Given the description of an element on the screen output the (x, y) to click on. 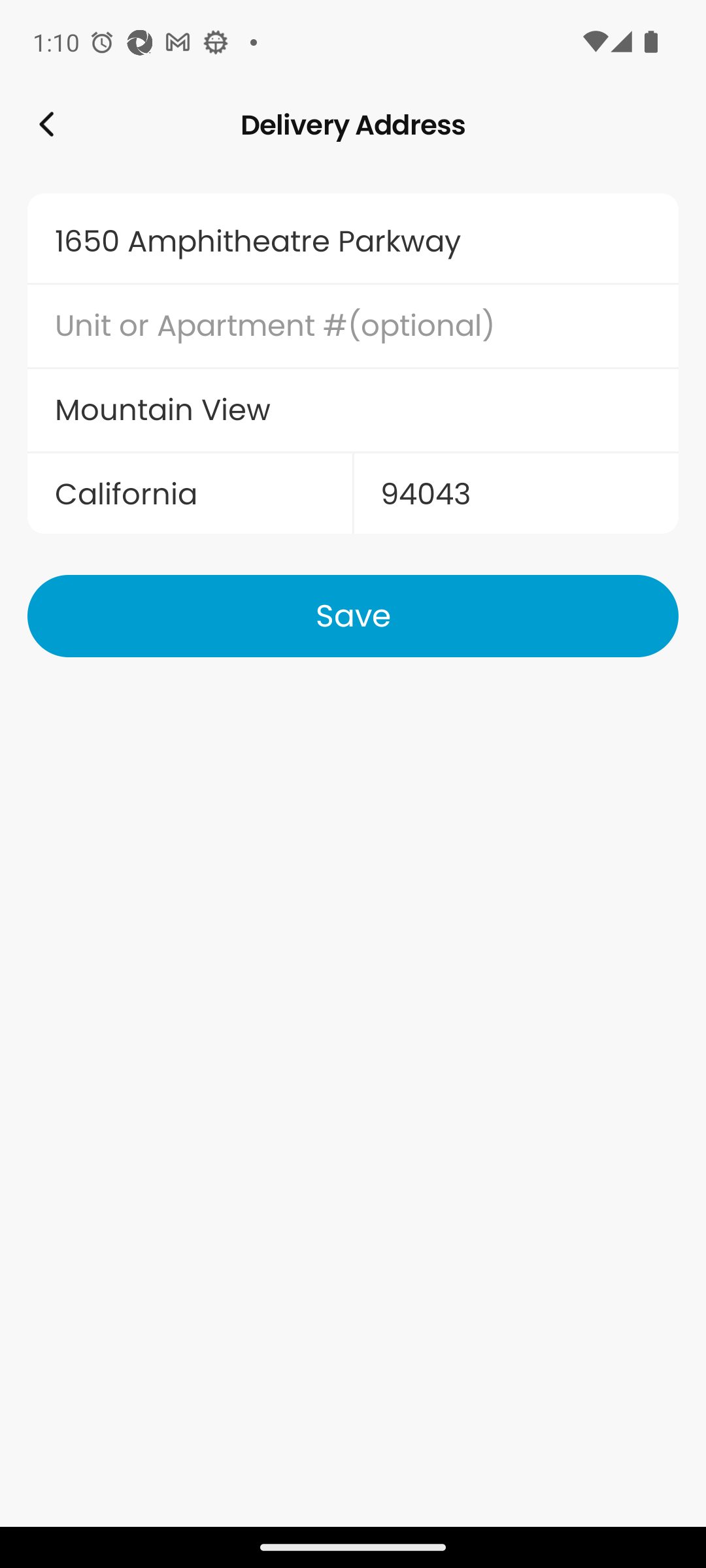
1650 Amphitheatre Parkway (352, 241)
Unit or Apartment #(optional) (352, 325)
Mountain View (352, 409)
California (190, 493)
94043 (515, 493)
Save (352, 615)
